Given the description of an element on the screen output the (x, y) to click on. 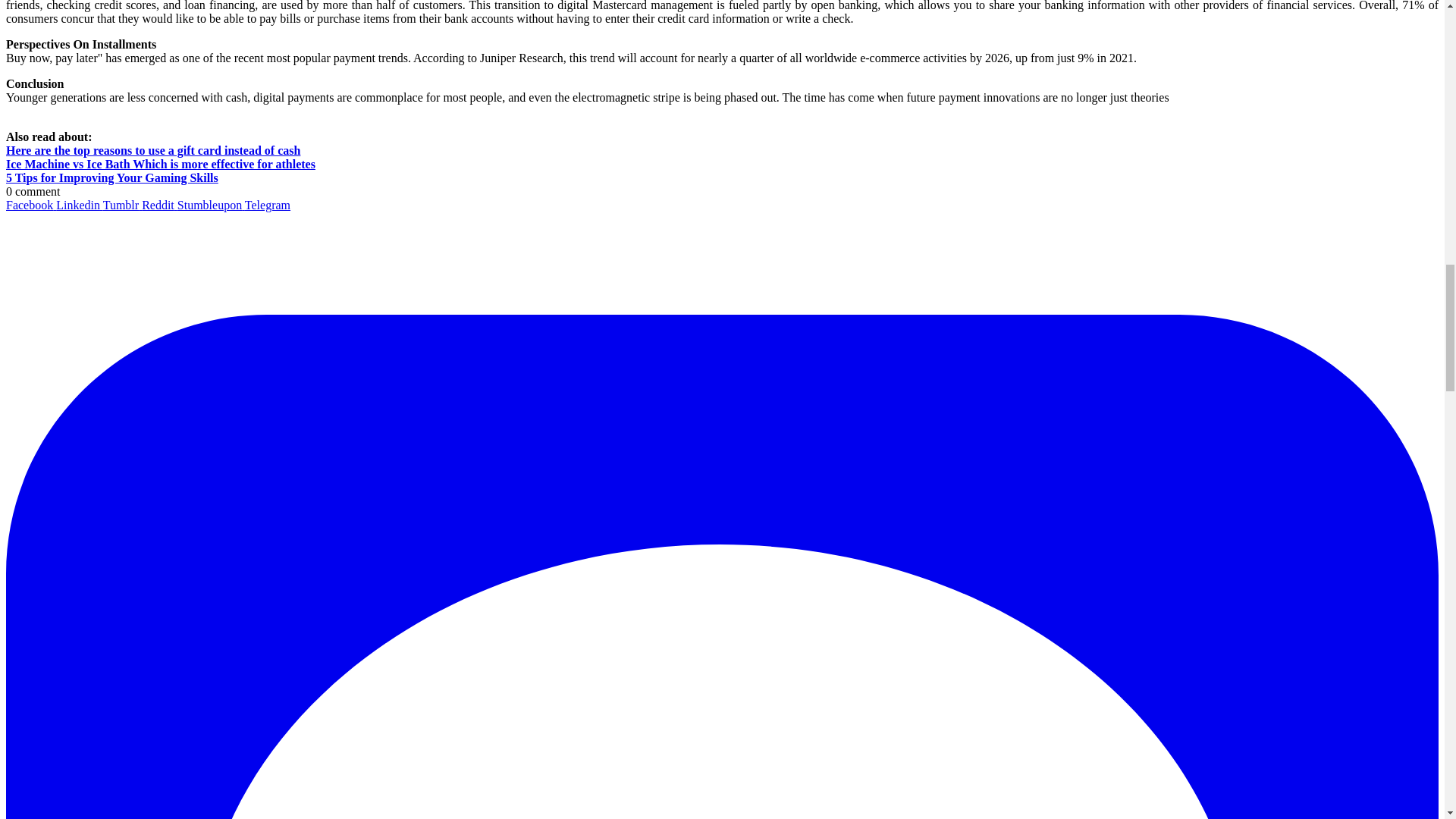
Ice Machine vs Ice Bath Which is more effective for athletes (160, 164)
Here are the top reasons to use a gift card instead of cash (152, 150)
5 Tips for Improving Your Gaming Skills (111, 177)
